Given the description of an element on the screen output the (x, y) to click on. 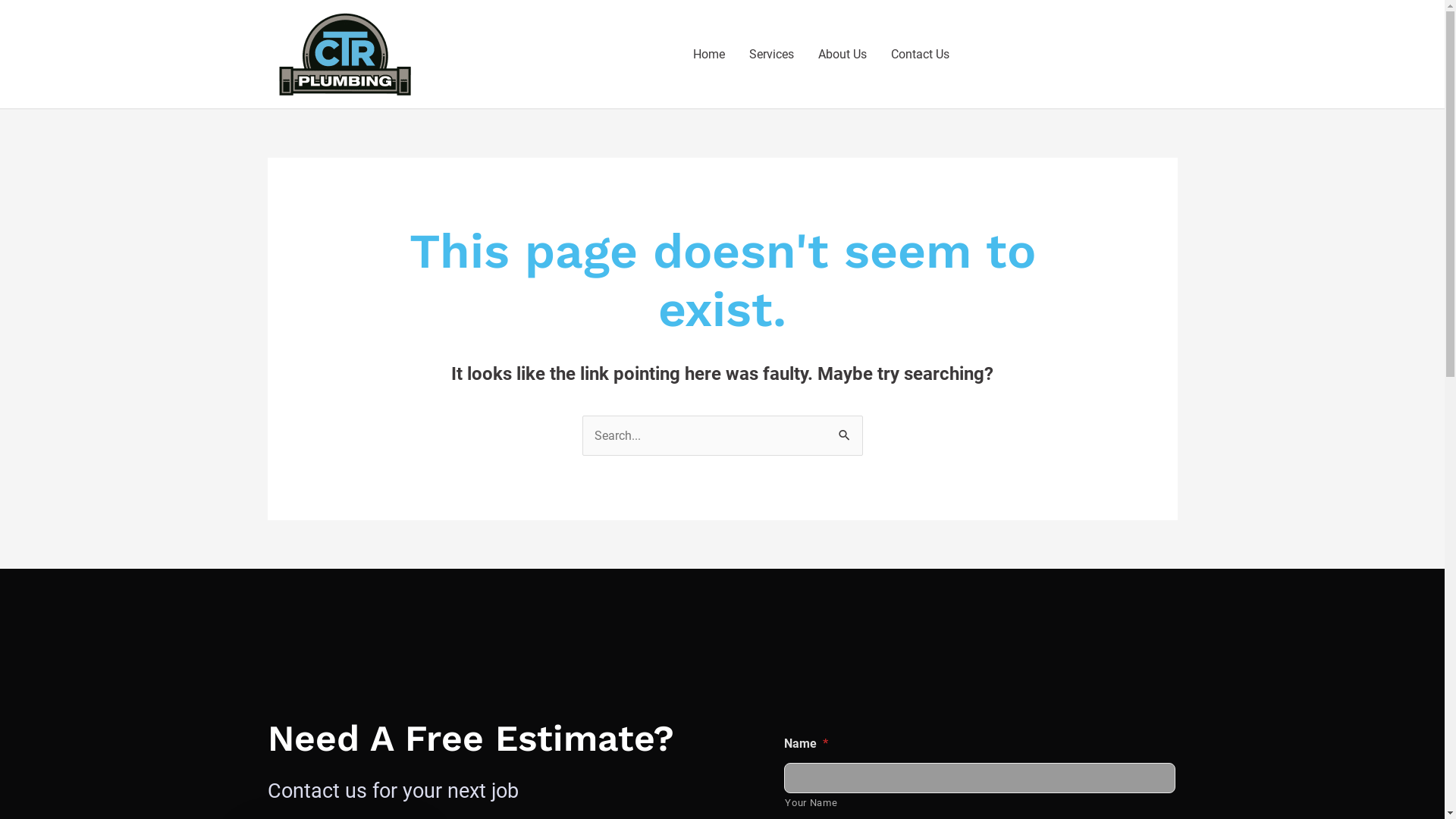
Contact Us Element type: text (919, 54)
Get a Free Estimate Element type: text (1069, 53)
About Us Element type: text (842, 54)
Home Element type: text (708, 54)
Search Element type: text (845, 431)
Services Element type: text (771, 54)
